Given the description of an element on the screen output the (x, y) to click on. 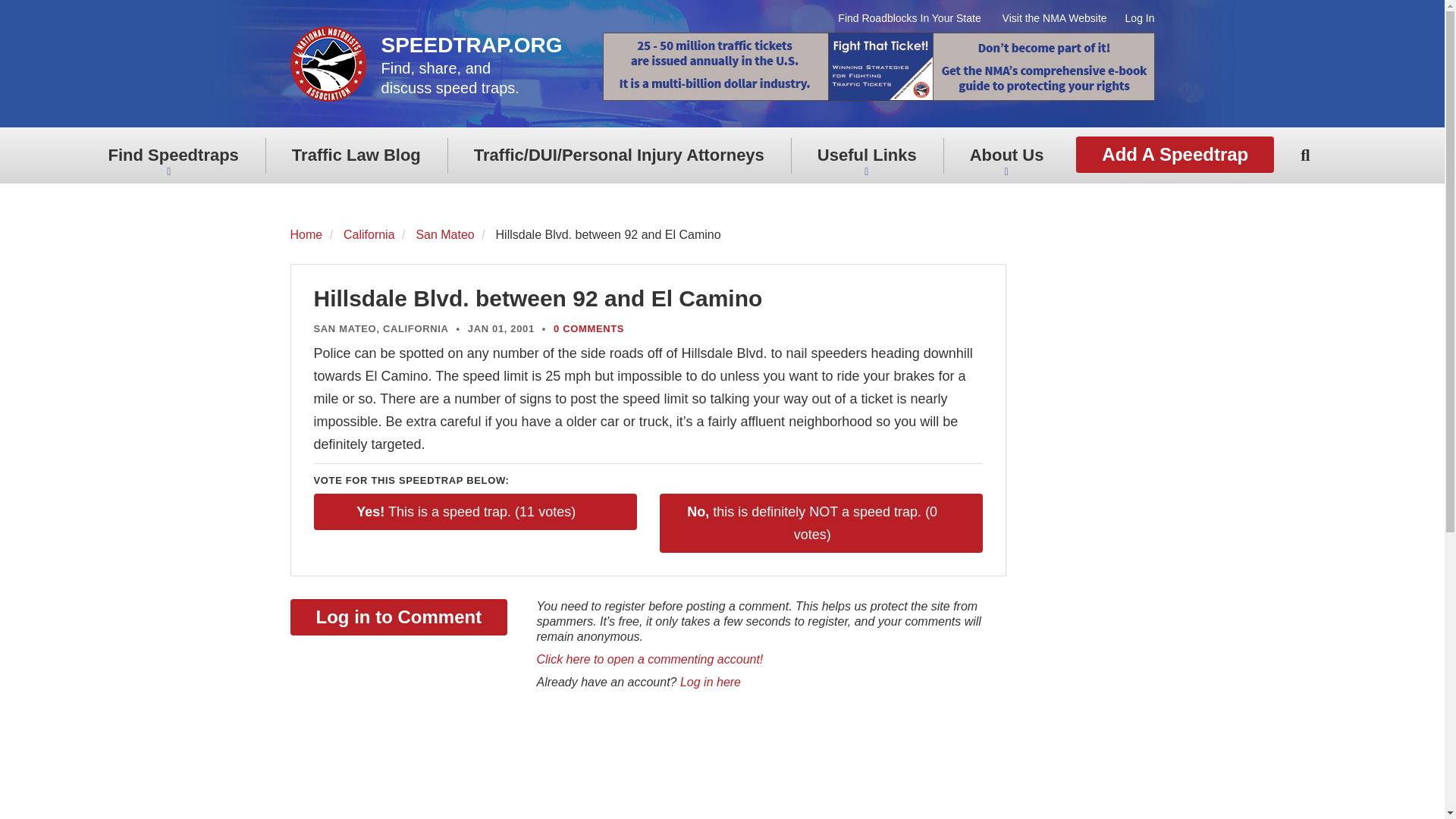
Advertisement (565, 762)
